Given the description of an element on the screen output the (x, y) to click on. 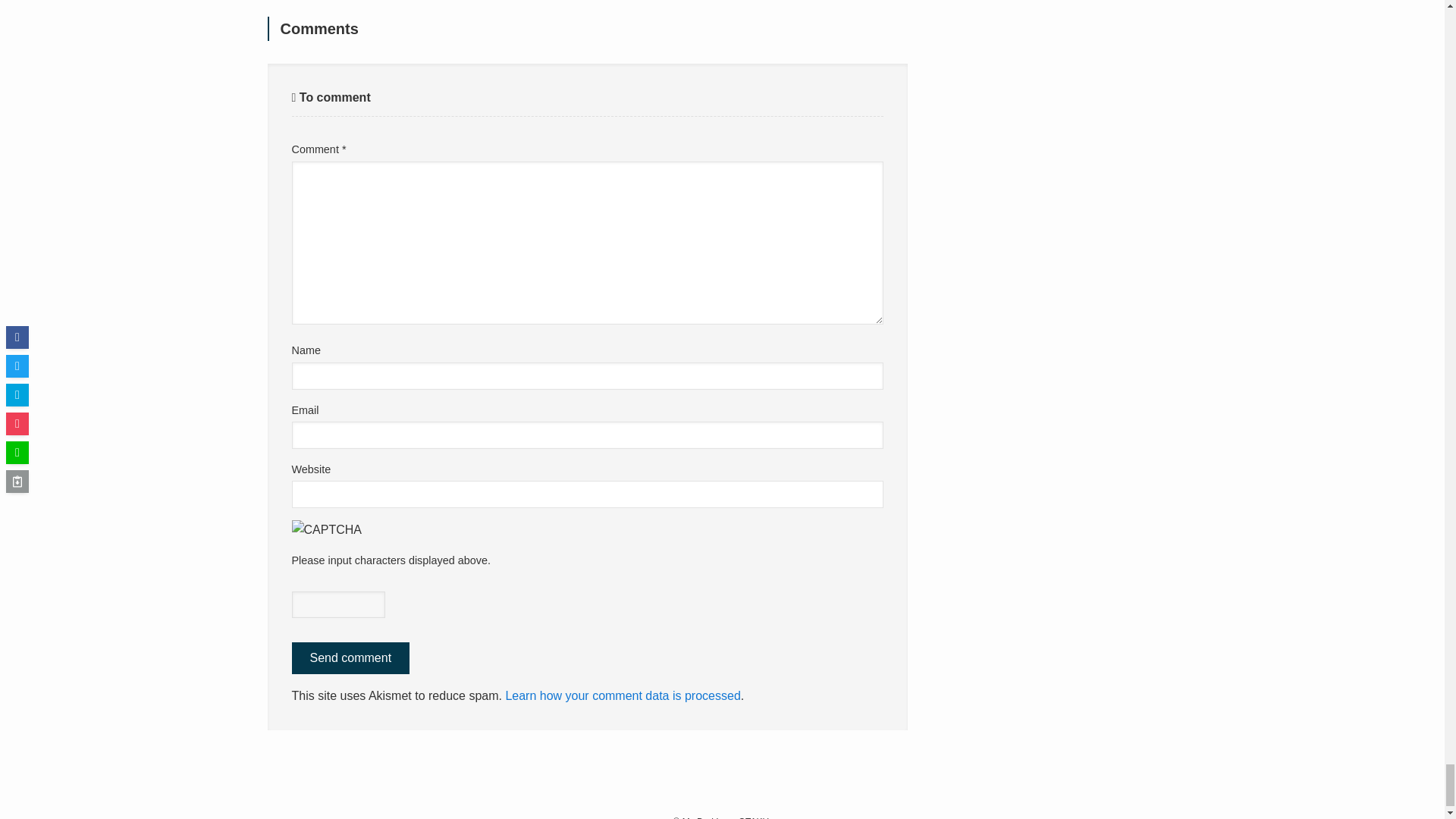
Send comment (350, 658)
